Given the description of an element on the screen output the (x, y) to click on. 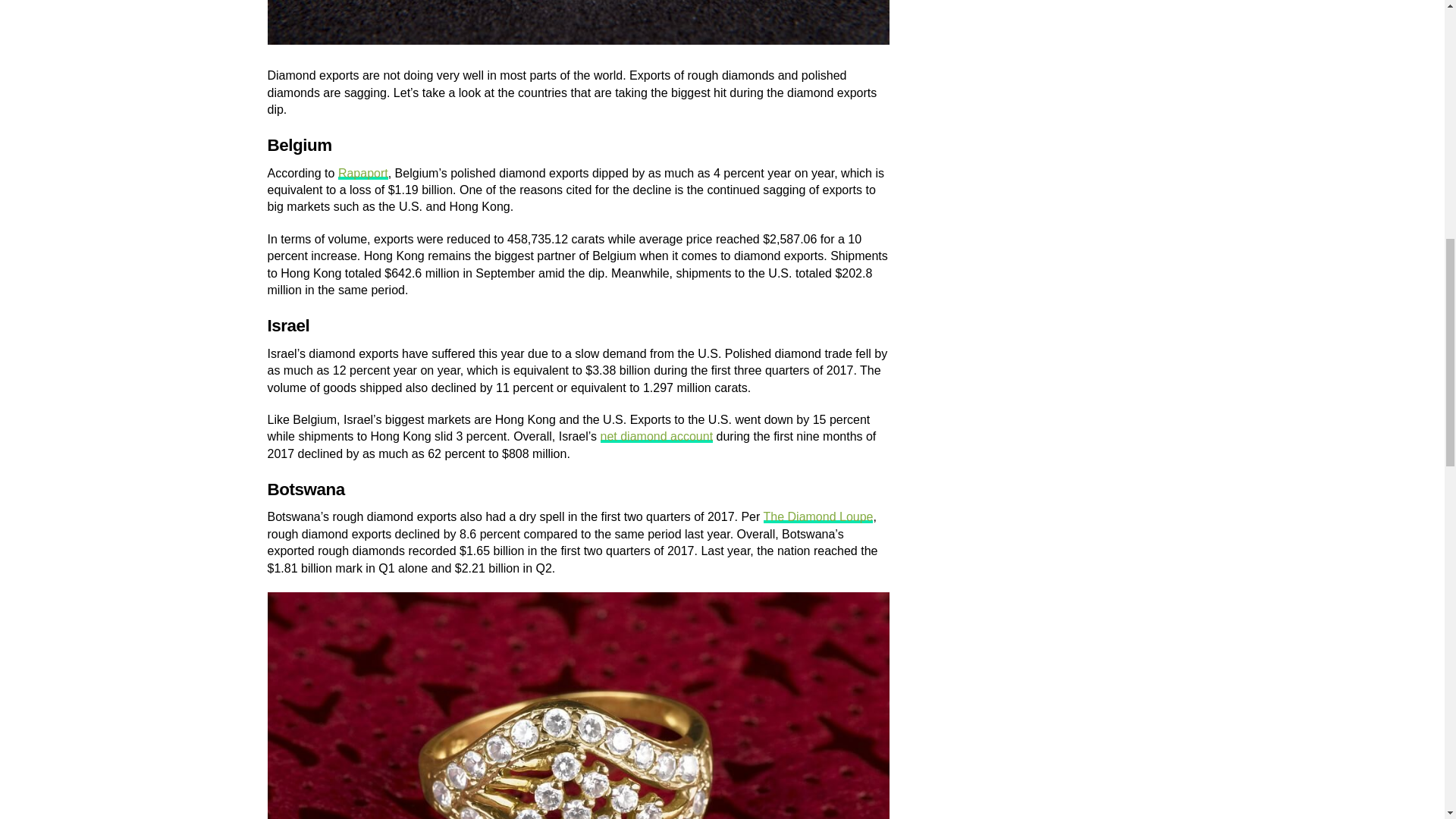
The Diamond Loupe (817, 516)
net diamond account (656, 436)
Rapaport (362, 173)
